Given the description of an element on the screen output the (x, y) to click on. 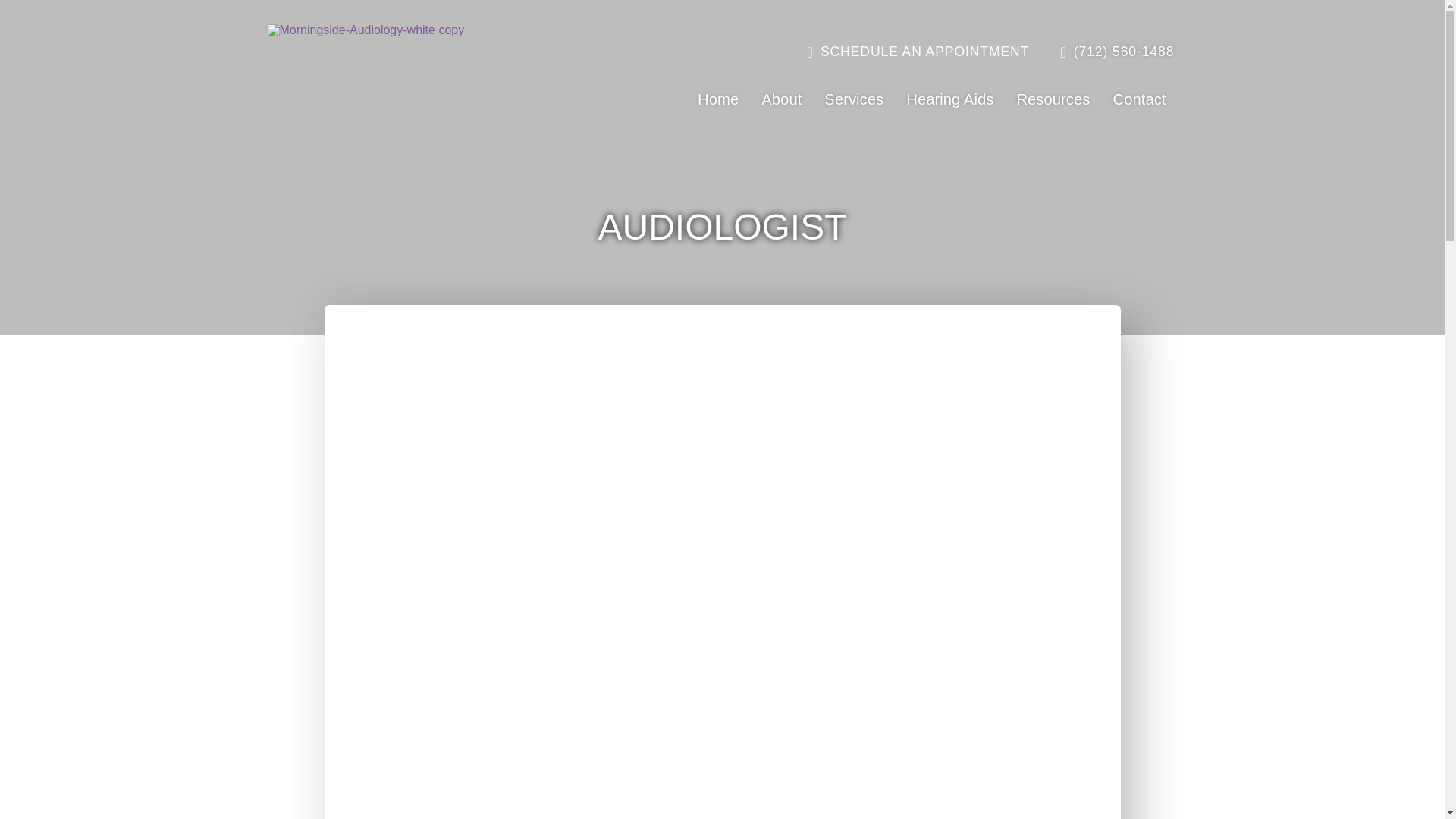
Hearing Aids (949, 98)
Home (717, 98)
Resources (1052, 98)
SCHEDULE AN APPOINTMENT (917, 51)
Services (853, 98)
About (780, 98)
Contact (1138, 98)
